Given the description of an element on the screen output the (x, y) to click on. 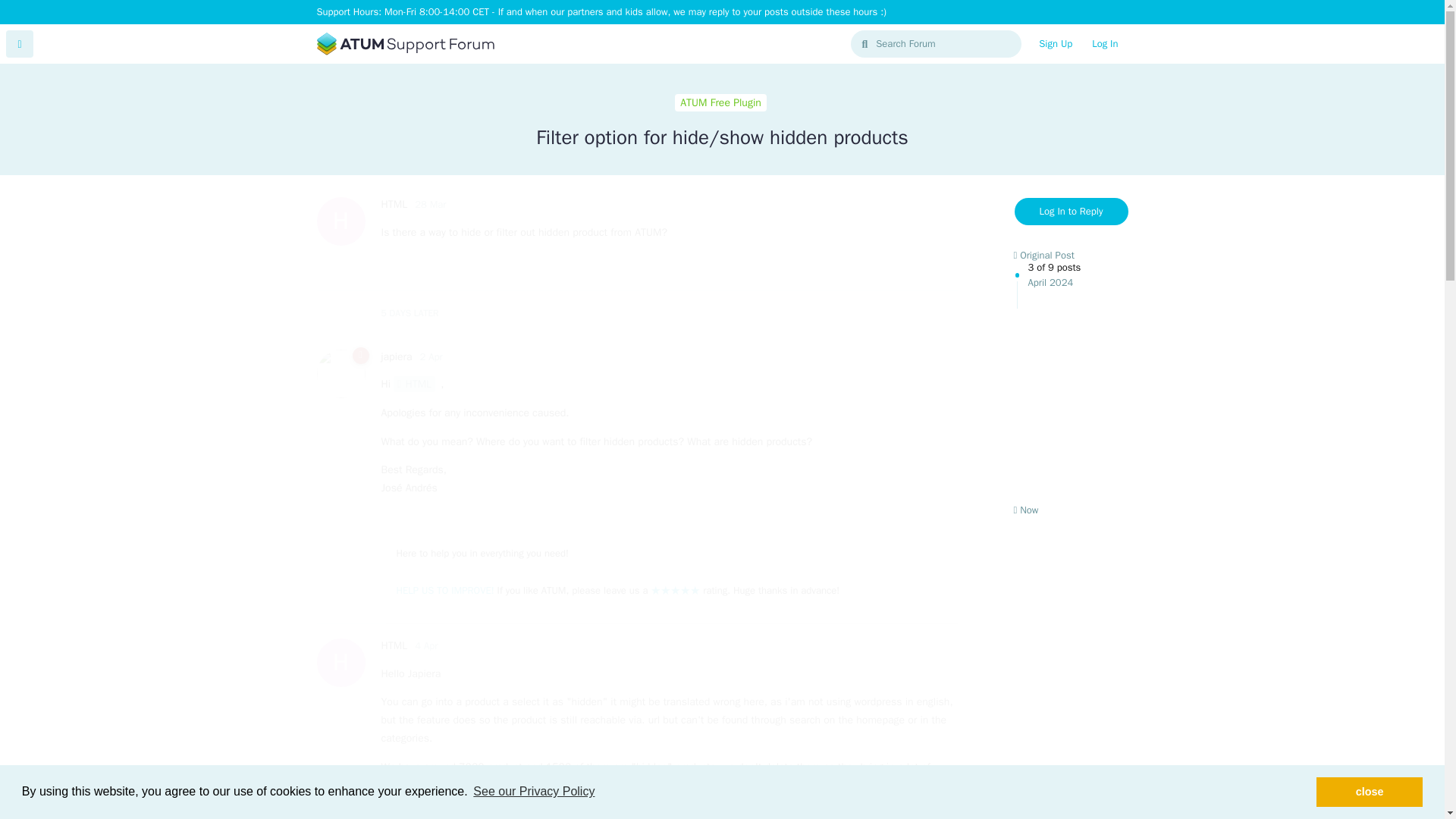
Thursday, March 28, 2024 10:06 AM (429, 204)
Log In (1103, 43)
Log In (1103, 43)
ATUM Inventory 5 stars rating (675, 590)
HTML (414, 383)
close (1369, 791)
ATUM Free Plugin (721, 103)
japiera (396, 356)
See our Privacy Policy (533, 791)
Thursday, April 4, 2024 8:17 AM (426, 645)
Log In to Reply (1071, 211)
Sign Up (1071, 382)
Back to Discussion List (1055, 43)
2 Apr (19, 43)
